Given the description of an element on the screen output the (x, y) to click on. 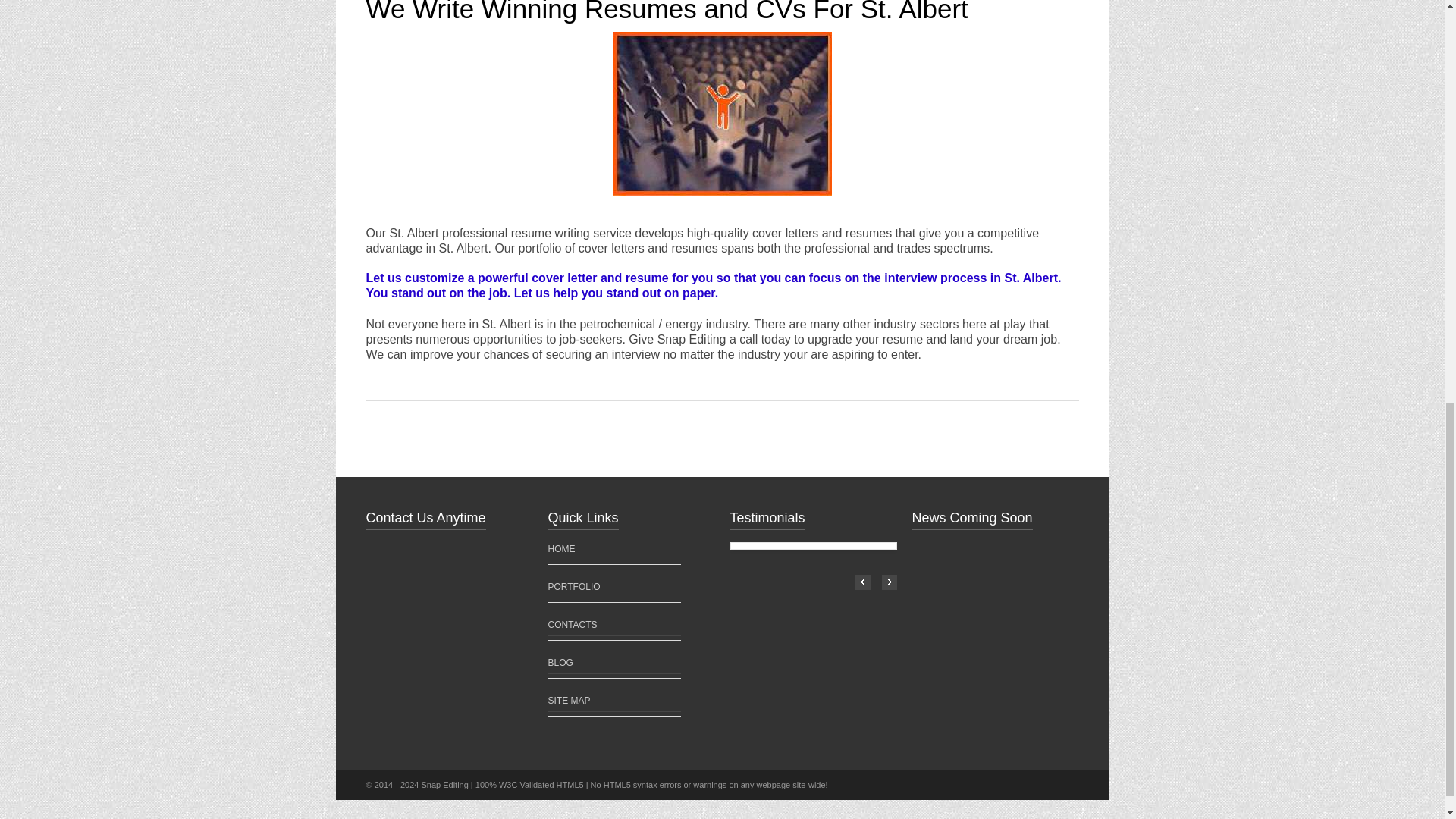
PORTFOLIO (573, 586)
HOME (561, 548)
CONTACTS (571, 624)
BLOG (559, 662)
SITE MAP (568, 700)
